Given the description of an element on the screen output the (x, y) to click on. 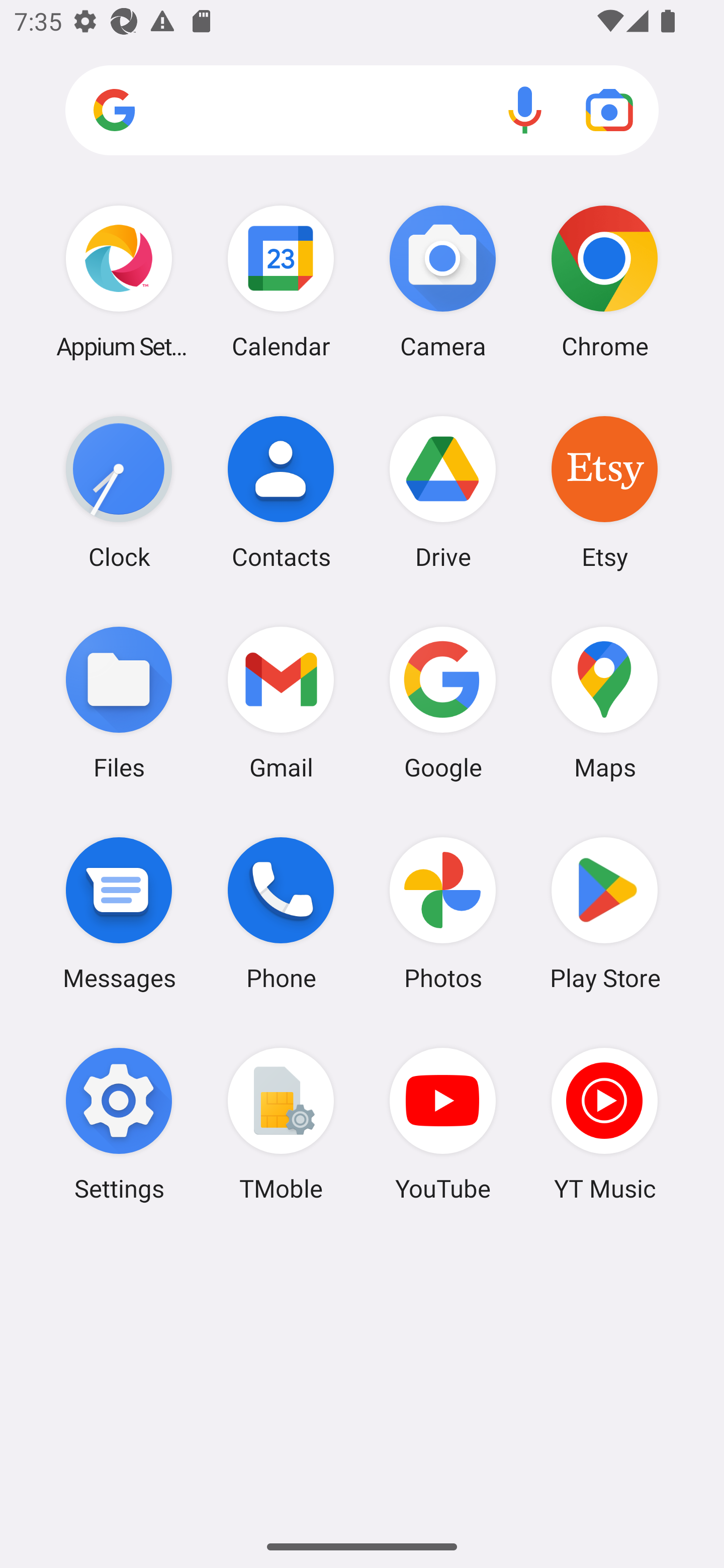
Search apps, web and more (361, 110)
Voice search (524, 109)
Google Lens (608, 109)
Appium Settings (118, 281)
Calendar (280, 281)
Camera (443, 281)
Chrome (604, 281)
Clock (118, 492)
Contacts (280, 492)
Drive (443, 492)
Etsy (604, 492)
Files (118, 702)
Gmail (280, 702)
Google (443, 702)
Maps (604, 702)
Messages (118, 913)
Phone (280, 913)
Photos (443, 913)
Play Store (604, 913)
Settings (118, 1124)
TMoble (280, 1124)
YouTube (443, 1124)
YT Music (604, 1124)
